Given the description of an element on the screen output the (x, y) to click on. 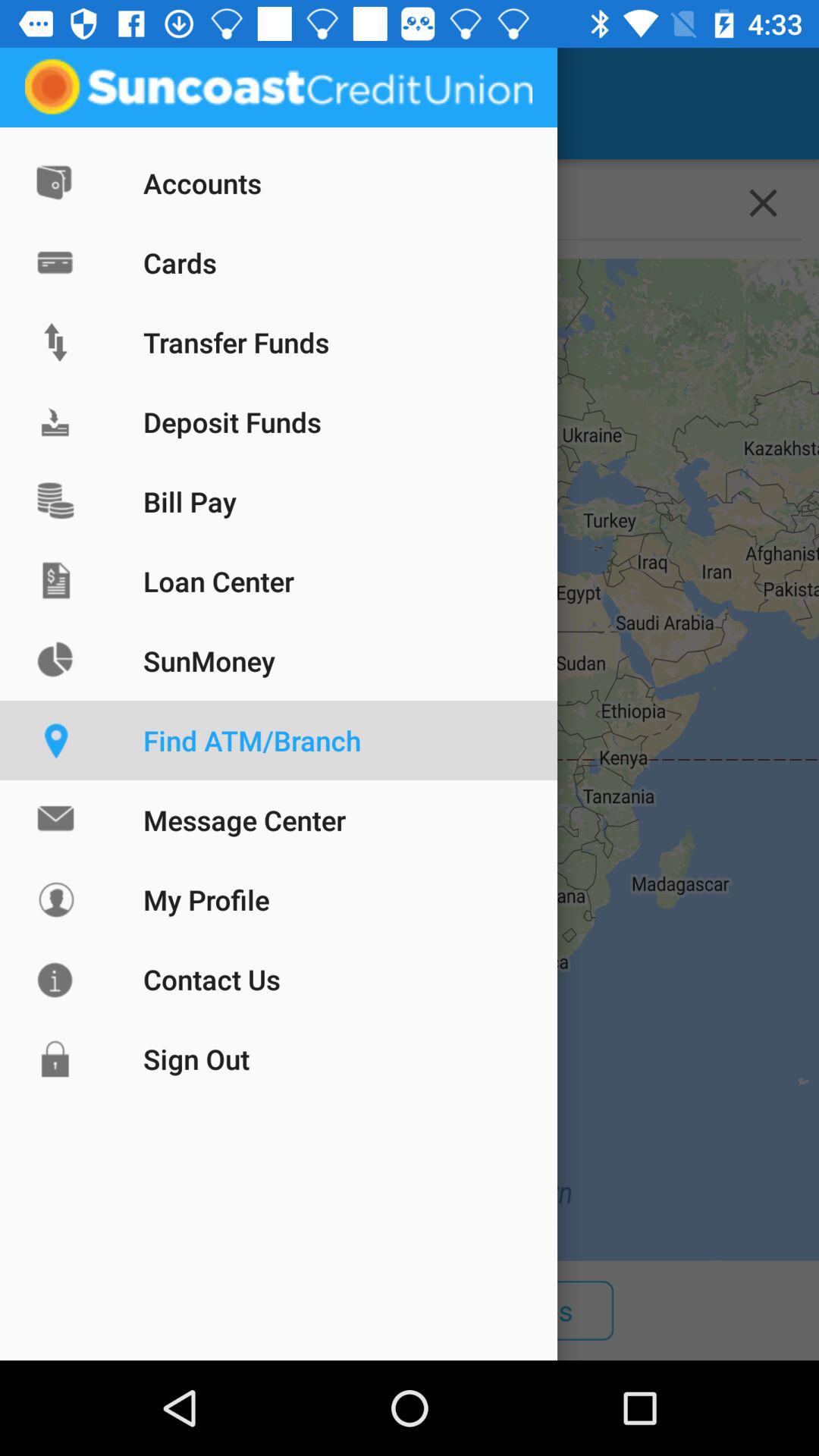
press icon next to the branches (316, 1310)
